Given the description of an element on the screen output the (x, y) to click on. 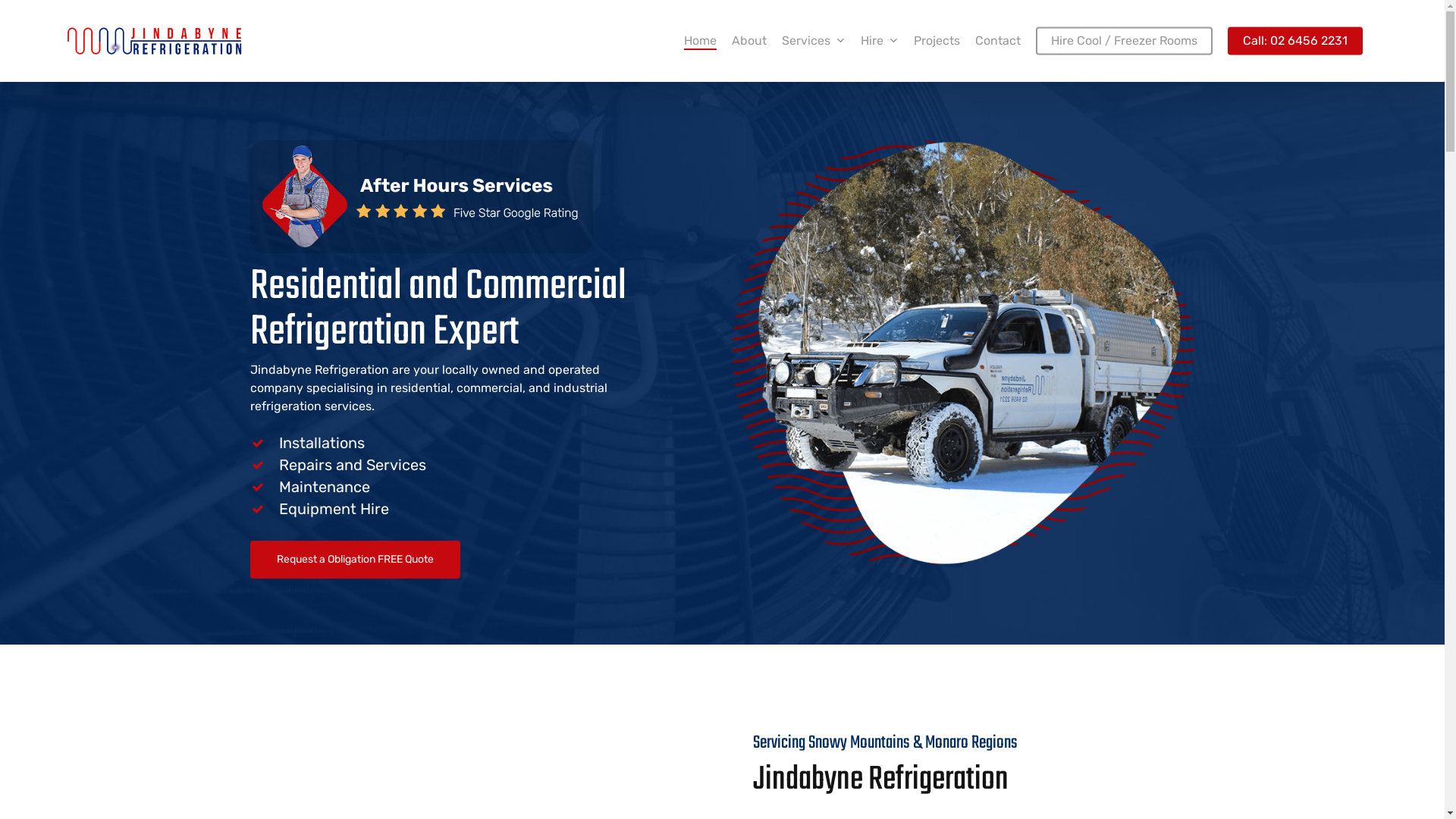
About Element type: text (748, 40)
Home Element type: text (700, 40)
Hire Element type: text (879, 40)
Request a Obligation FREE Quote Element type: text (355, 559)
Hire Cool / Freezer Rooms Element type: text (1123, 40)
Projects Element type: text (936, 40)
Contact Element type: text (997, 40)
Call: 02 6456 2231 Element type: text (1294, 40)
Services Element type: text (813, 40)
